Given the description of an element on the screen output the (x, y) to click on. 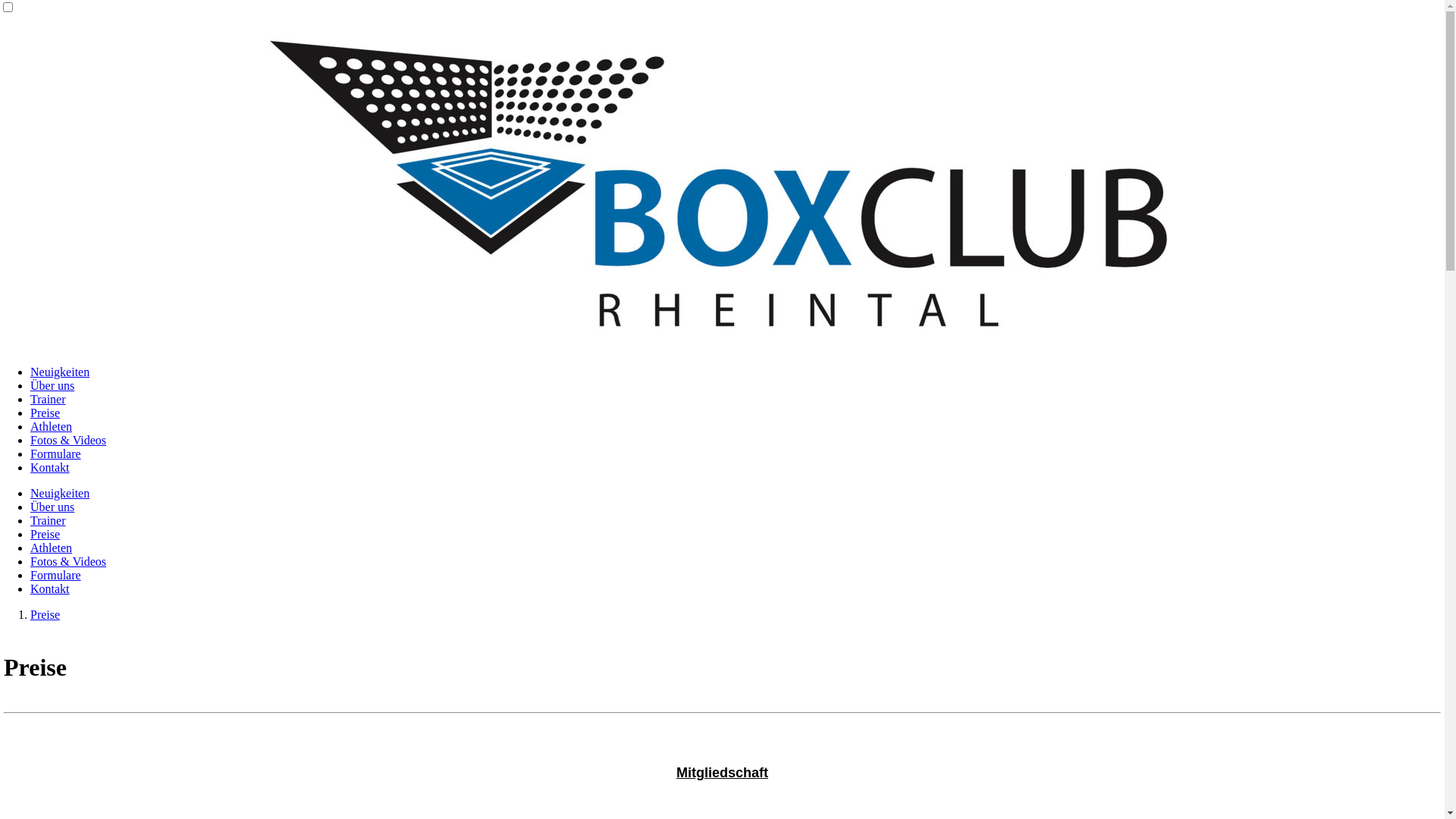
Trainer Element type: text (47, 520)
Formulare Element type: text (55, 453)
Trainer Element type: text (47, 398)
Kontakt Element type: text (49, 467)
Fotos & Videos Element type: text (68, 439)
Neuigkeiten Element type: text (59, 371)
Formulare Element type: text (55, 574)
Neuigkeiten Element type: text (59, 492)
Preise Element type: text (44, 614)
Fotos & Videos Element type: text (68, 561)
Preise Element type: text (44, 533)
Kontakt Element type: text (49, 588)
Preise Element type: text (44, 412)
Athleten Element type: text (51, 426)
Athleten Element type: text (51, 547)
